Given the description of an element on the screen output the (x, y) to click on. 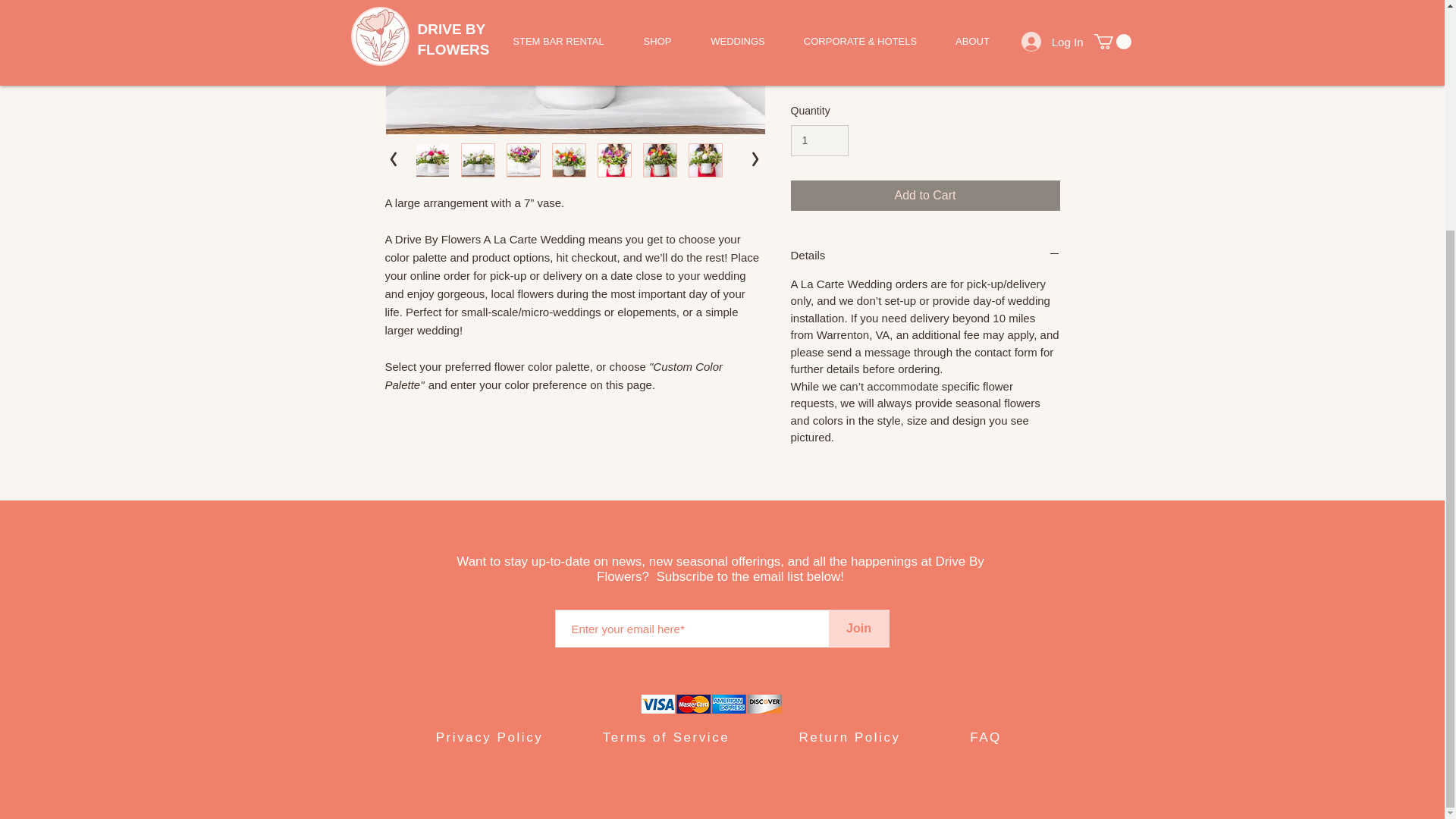
Terms of Service (665, 737)
FAQ (985, 737)
1 (818, 140)
Privacy Policy (489, 737)
Join (858, 628)
Return Policy (848, 737)
Add to Cart (924, 195)
Select (924, 8)
Details (924, 254)
